Given the description of an element on the screen output the (x, y) to click on. 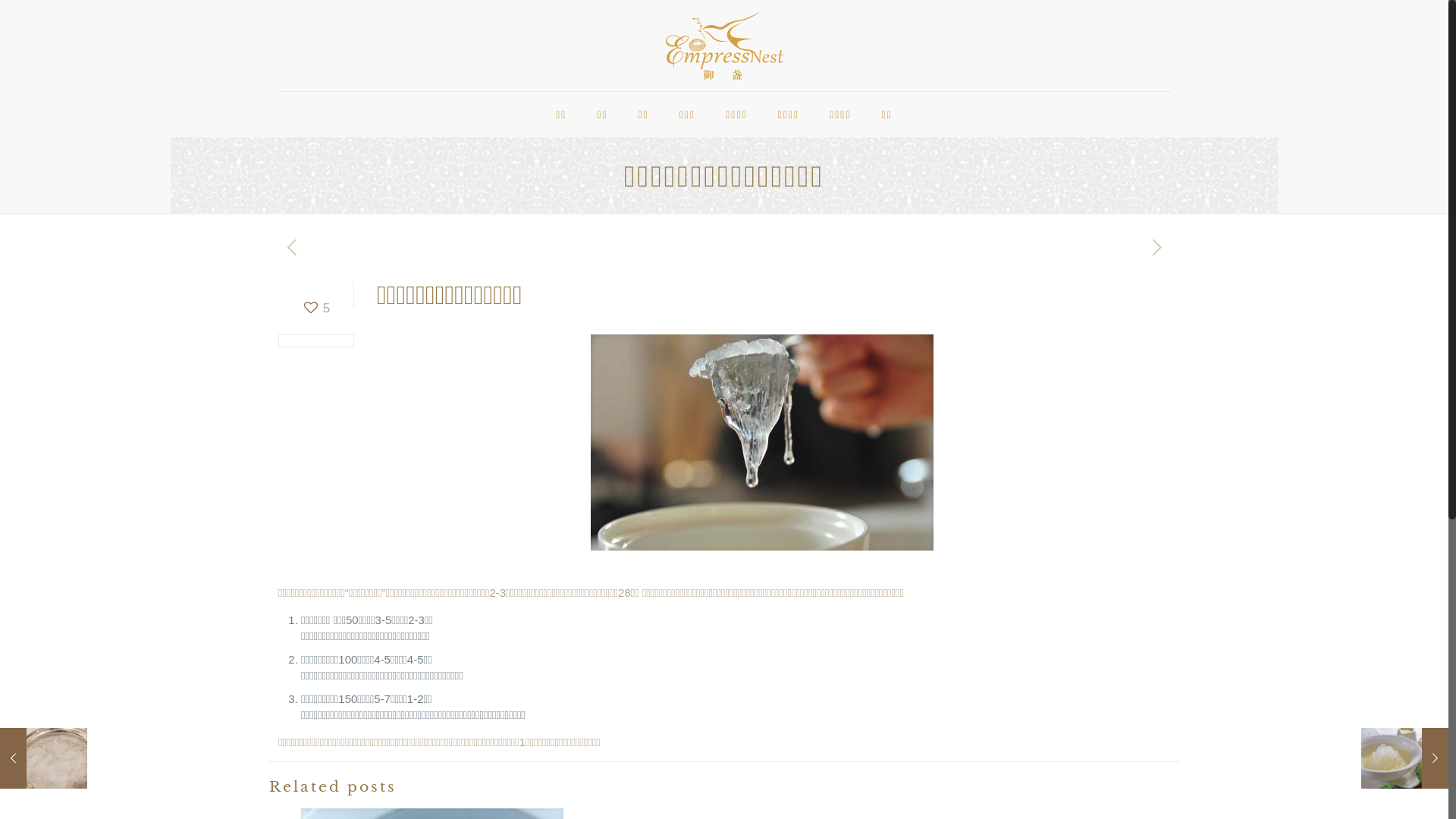
5 Element type: text (315, 308)
